Given the description of an element on the screen output the (x, y) to click on. 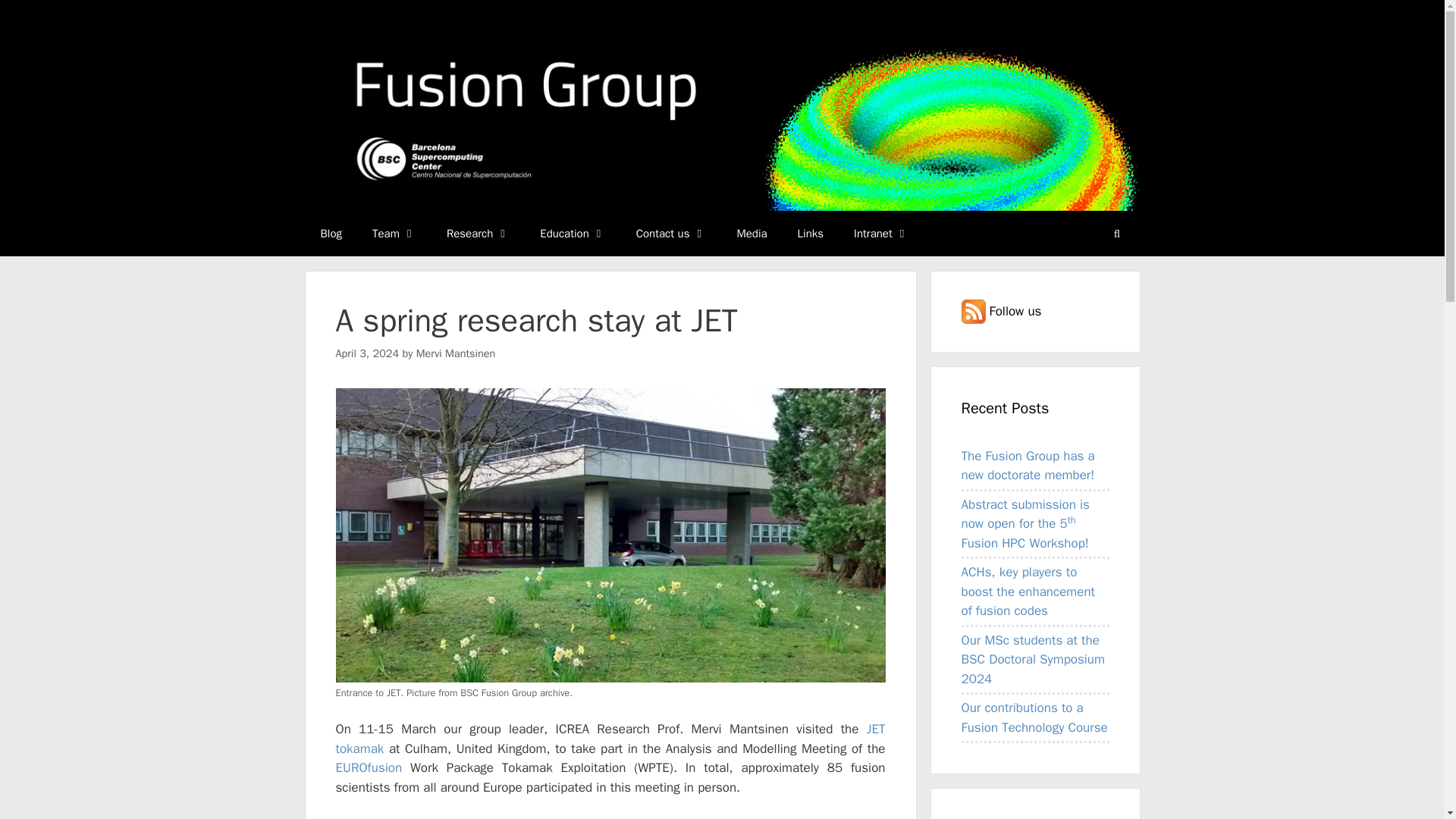
Team (393, 233)
Follow us (1001, 311)
Blog (330, 233)
The Fusion Group has a new doctorate member! (1027, 465)
Intranet (881, 233)
Links (810, 233)
EUROfusion (367, 767)
Research (477, 233)
JET tokamak (609, 738)
Education (572, 233)
